Given the description of an element on the screen output the (x, y) to click on. 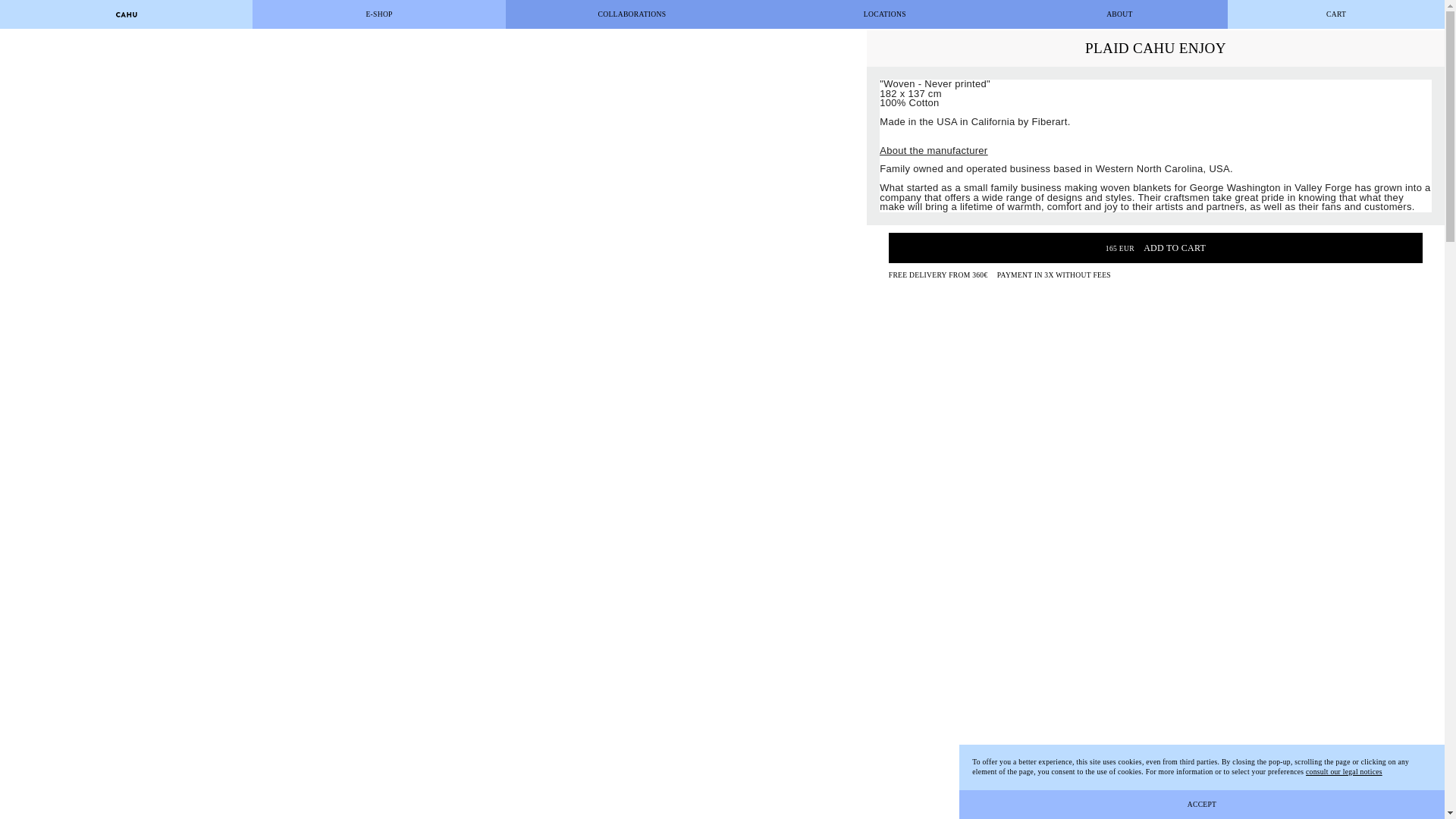
E-SHOP (378, 14)
COLLABORATIONS (631, 14)
consult our legal notices (1343, 771)
ABOUT (1119, 14)
LOCATIONS (884, 14)
